Given the description of an element on the screen output the (x, y) to click on. 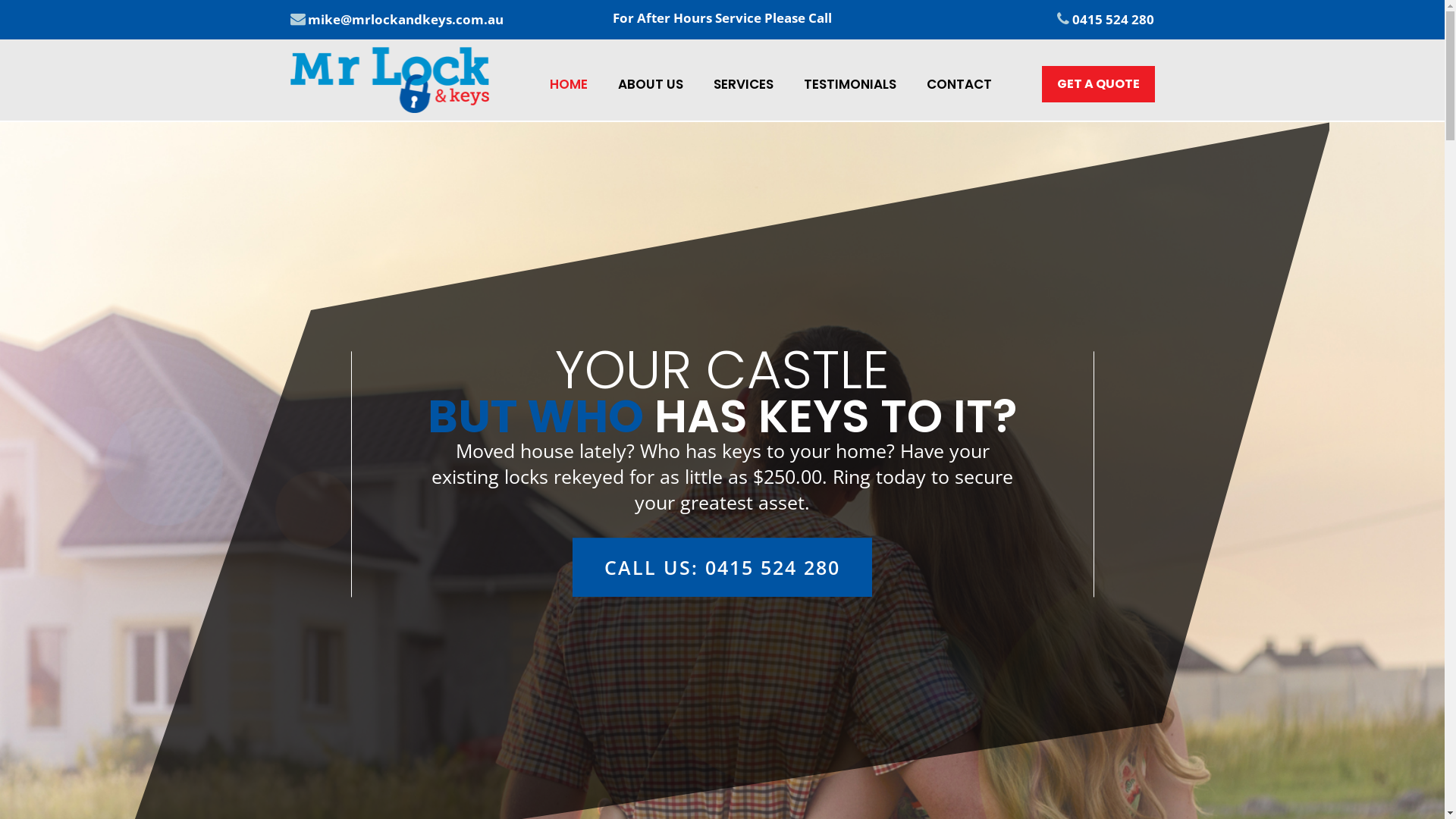
CALL US: 0415 524 280 Element type: text (722, 566)
HOME Element type: text (568, 83)
GET A QUOTE Element type: text (1097, 83)
TESTIMONIALS Element type: text (849, 83)
ABOUT US Element type: text (650, 83)
mike@mrlockandkeys.com.au Element type: text (405, 19)
SERVICES Element type: text (743, 83)
CONTACT Element type: text (959, 83)
0415 524 280 Element type: text (1113, 19)
